Given the description of an element on the screen output the (x, y) to click on. 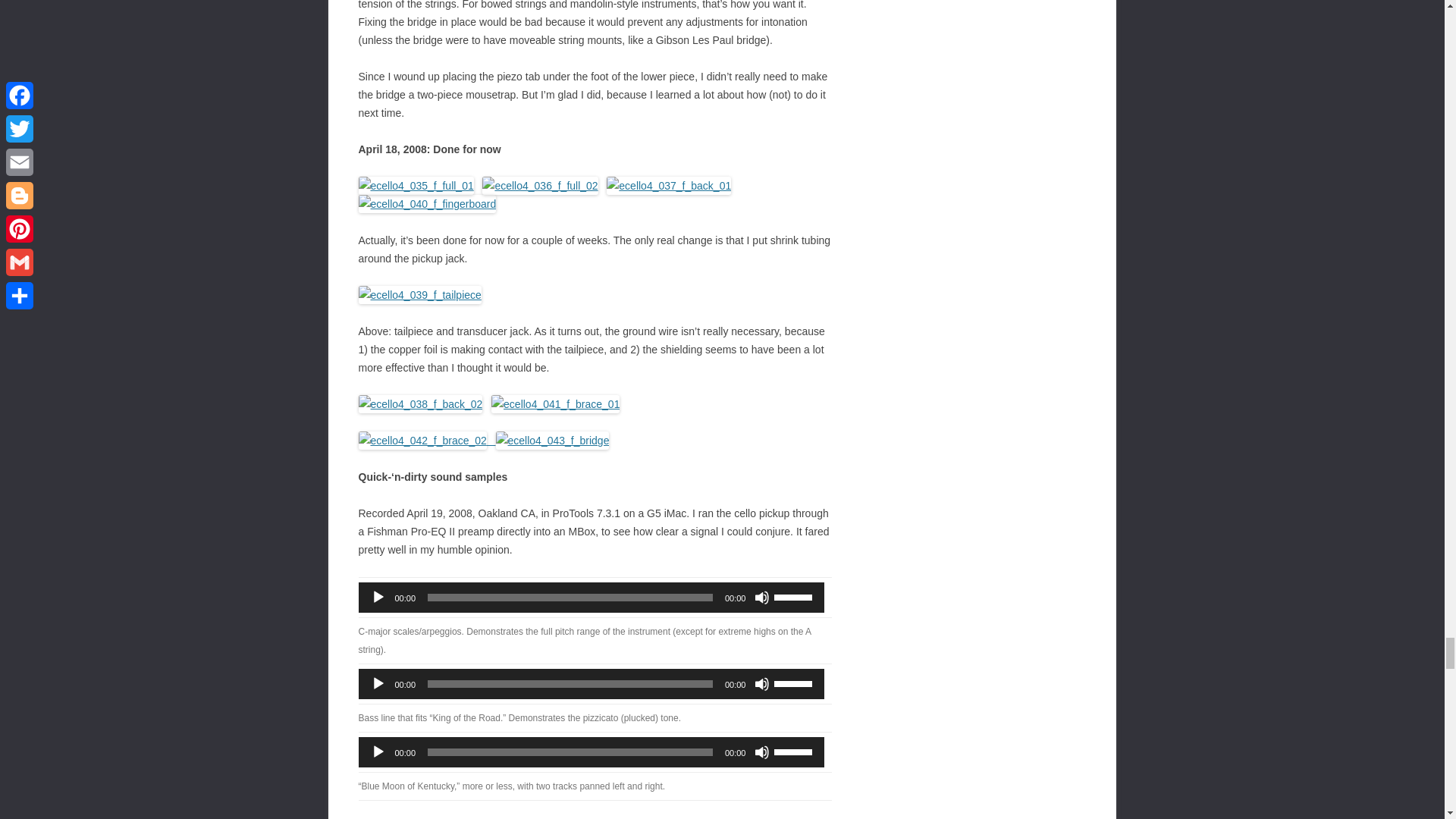
Mute (762, 752)
Play (377, 683)
Mute (762, 683)
Mute (762, 597)
Play (377, 752)
Play (377, 597)
